Given the description of an element on the screen output the (x, y) to click on. 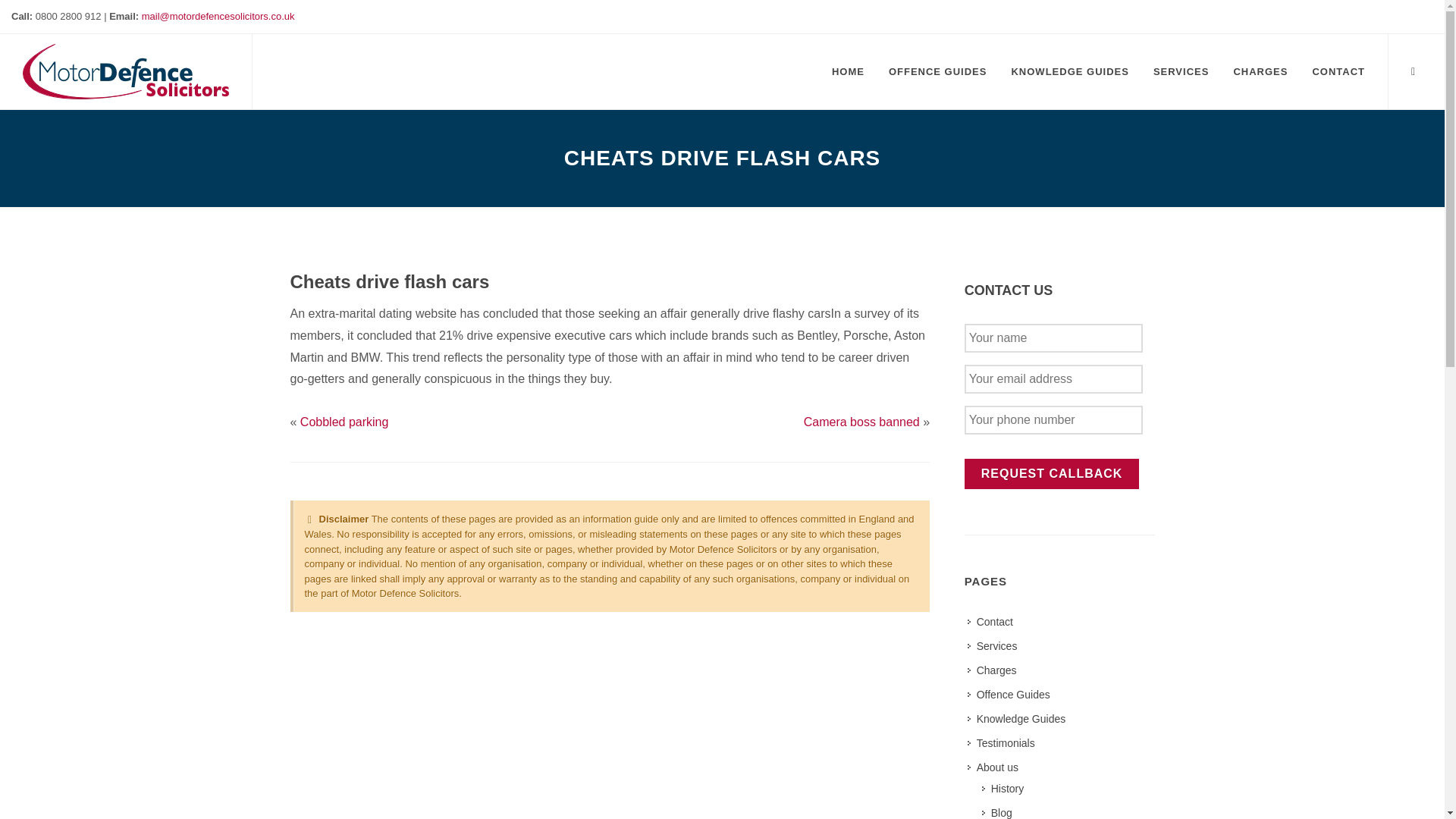
CHARGES (1259, 71)
Contact (991, 621)
Charges (993, 670)
Knowledge Guides (1018, 719)
Request Callback (1051, 473)
Offence Guides (937, 71)
OFFENCE GUIDES (937, 71)
KNOWLEDGE GUIDES (1069, 71)
Services (994, 646)
Cobbled parking (343, 421)
